Given the description of an element on the screen output the (x, y) to click on. 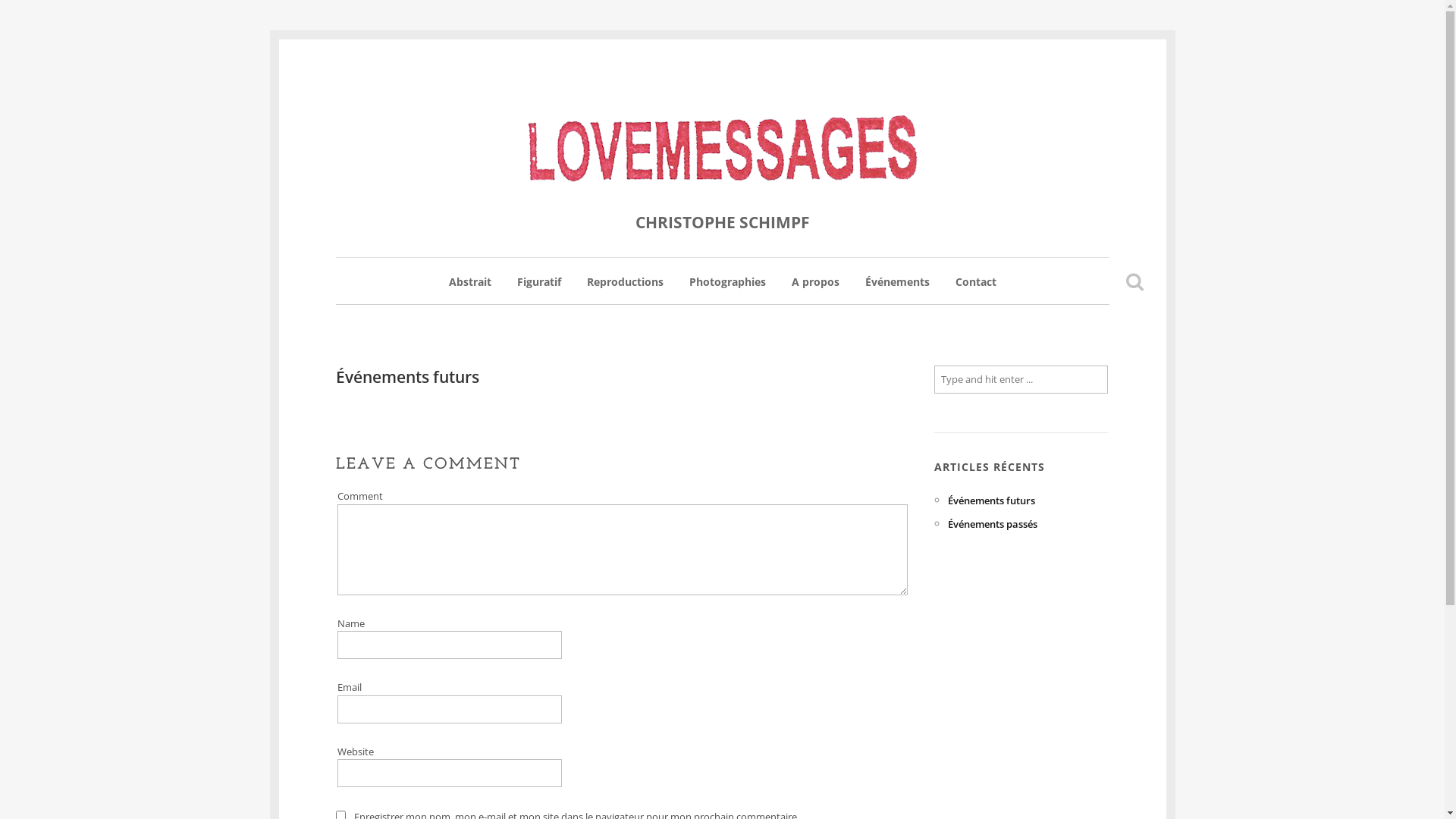
Reproductions Element type: text (624, 289)
Figuratif Element type: text (539, 289)
A propos Element type: text (815, 289)
Contact Element type: text (975, 289)
Portfolio de Christophe Schimpf Element type: hover (722, 149)
Abstrait Element type: text (469, 289)
Photographies Element type: text (726, 289)
